Given the description of an element on the screen output the (x, y) to click on. 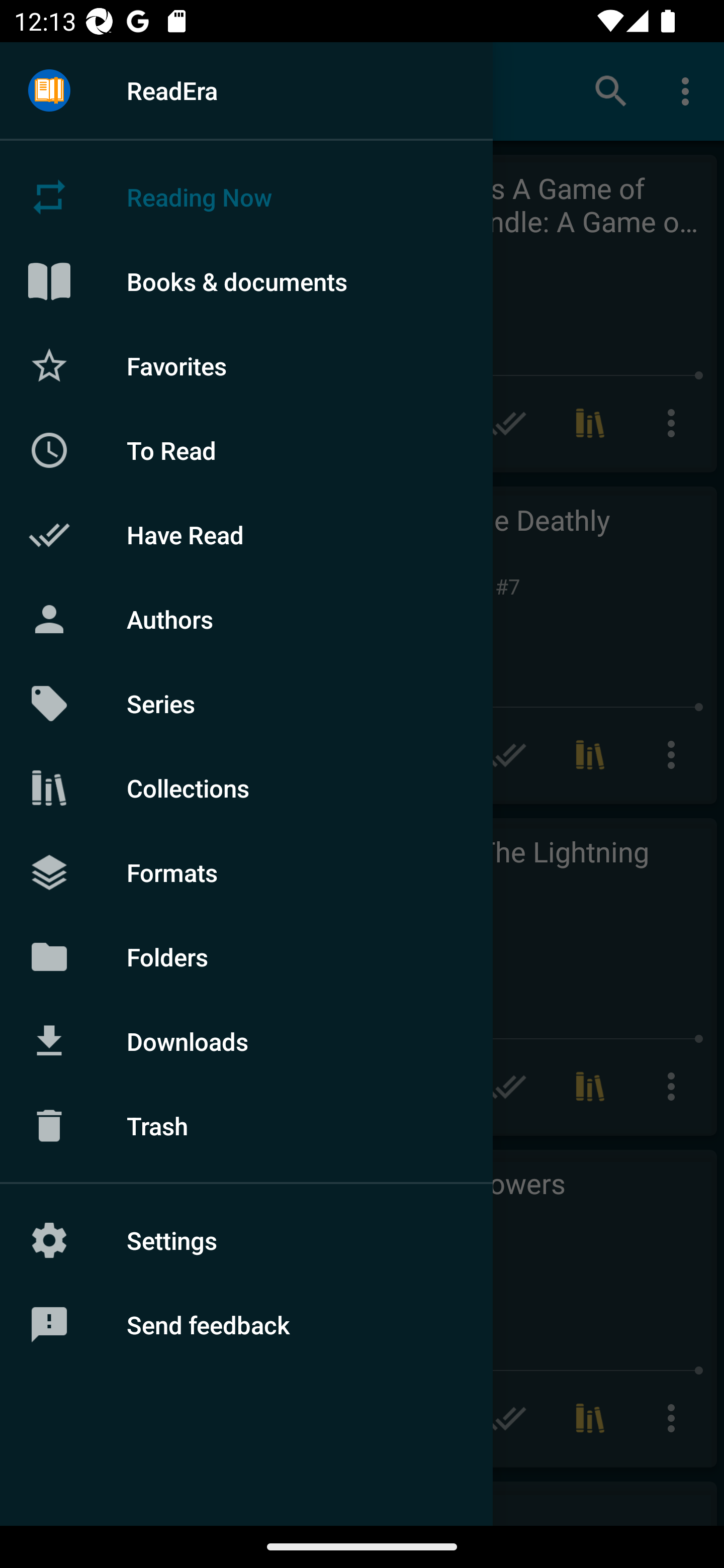
Menu (49, 91)
ReadEra (246, 89)
Search books & documents (611, 90)
More options (688, 90)
Reading Now (246, 197)
Books & documents (246, 281)
Favorites (246, 365)
To Read (246, 449)
Have Read (246, 534)
Authors (246, 619)
Series (246, 703)
Collections (246, 787)
Formats (246, 871)
Folders (246, 956)
Downloads (246, 1040)
Trash (246, 1125)
Settings (246, 1239)
Send feedback (246, 1324)
